Given the description of an element on the screen output the (x, y) to click on. 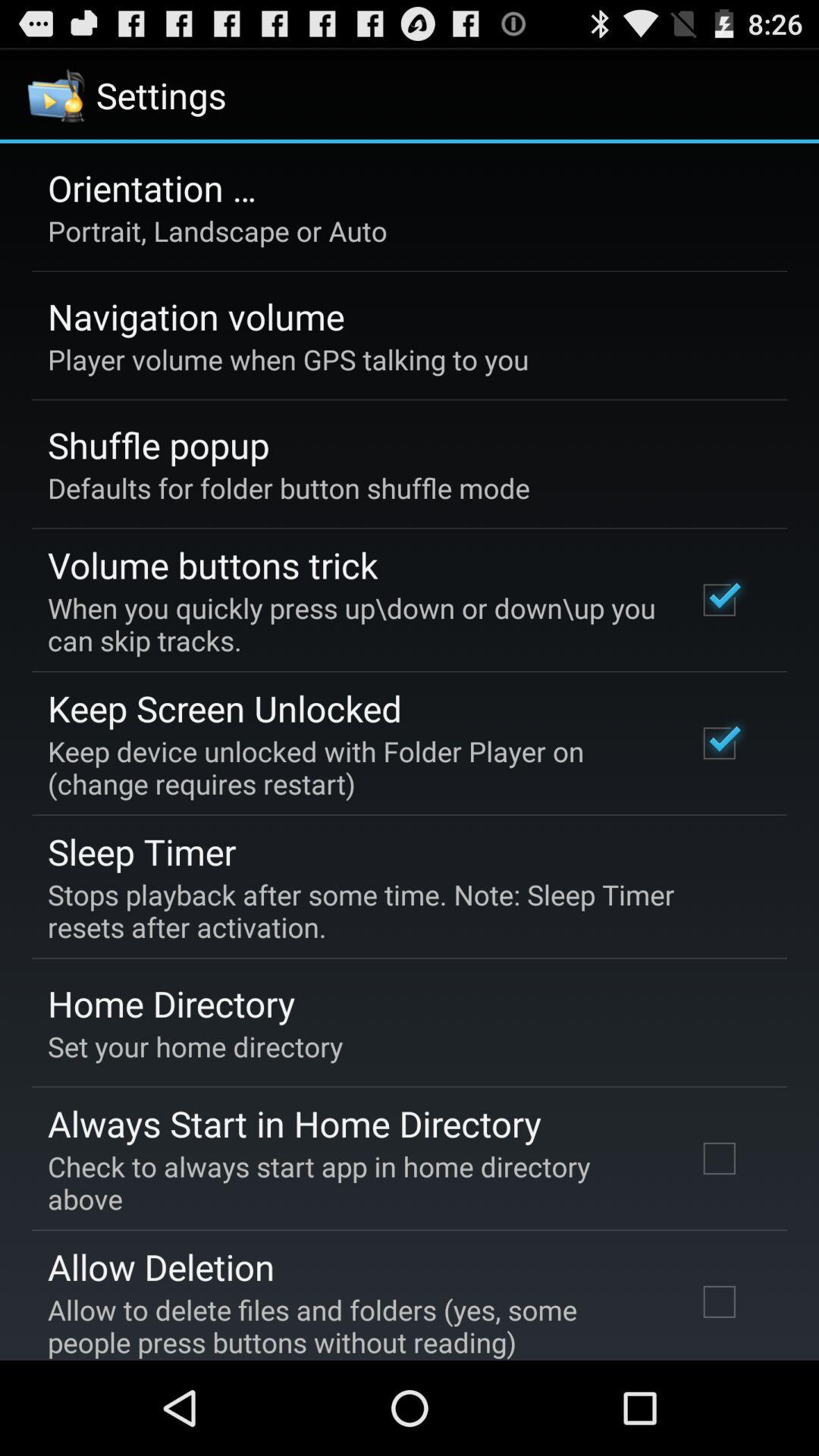
jump until the allow to delete (351, 1325)
